Given the description of an element on the screen output the (x, y) to click on. 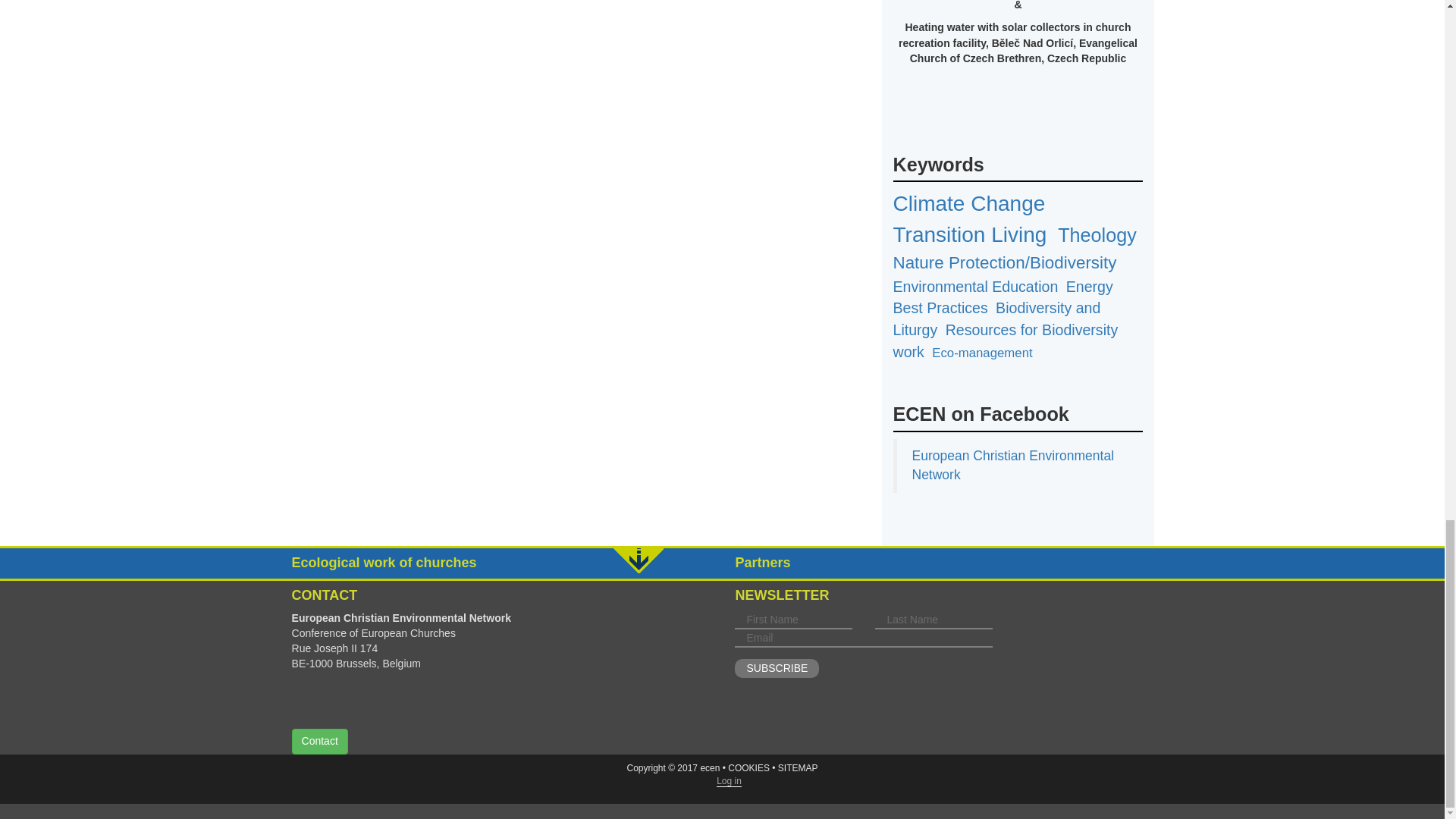
Climate Change (969, 203)
Transition Living (969, 234)
Biodiversity and Liturgy (996, 318)
Environmental Education (975, 286)
Theology (1097, 234)
Best Practices (940, 307)
SUBSCRIBE (776, 668)
Energy (1089, 286)
